Given the description of an element on the screen output the (x, y) to click on. 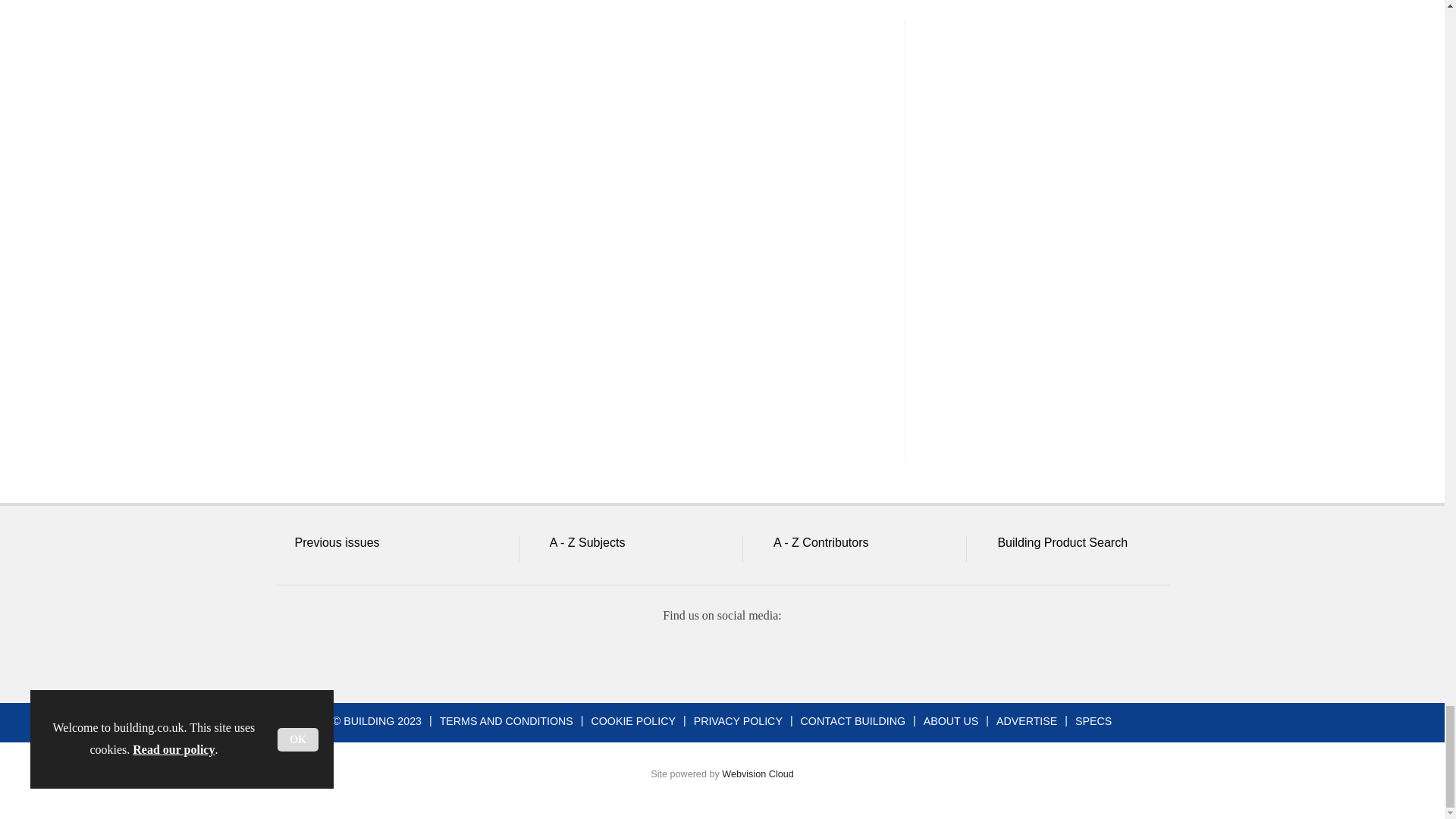
Connect with us on Pinterest (830, 656)
Connect with us on Twitter (667, 656)
Connect with us on Linked in (721, 656)
Connect with us on Facebook (611, 656)
Email us (776, 656)
